Given the description of an element on the screen output the (x, y) to click on. 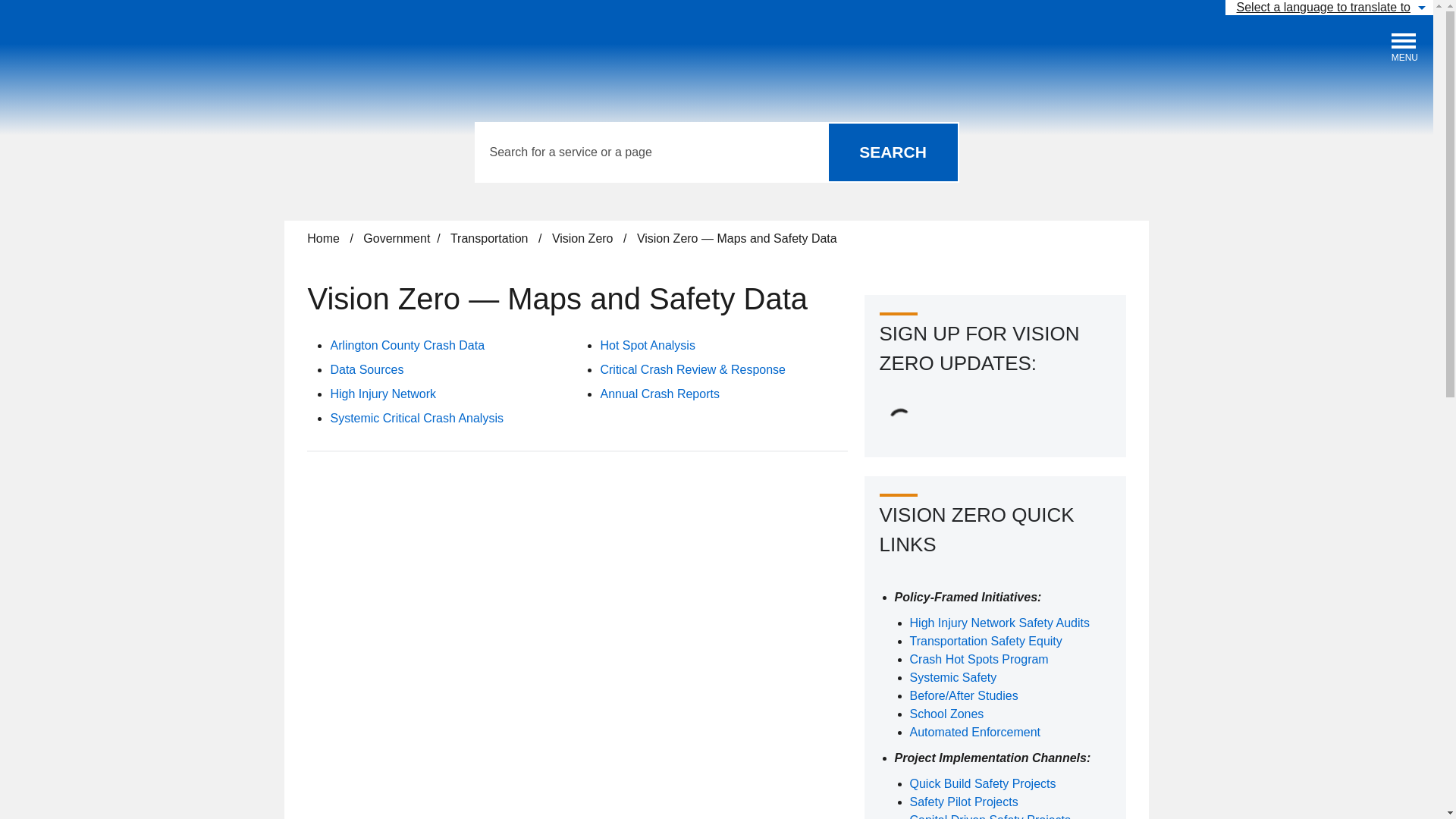
Search (892, 152)
Arlington County Virginia - Home - Logo (124, 52)
Search (892, 152)
Systemic Critical Crash Analysis (416, 418)
Annual Crash Reports (659, 393)
Hot Spot Analysis (646, 345)
Arlington County Crash Data (407, 345)
Data Sources (1404, 47)
High Injury Network (366, 369)
Search (382, 393)
